Given the description of an element on the screen output the (x, y) to click on. 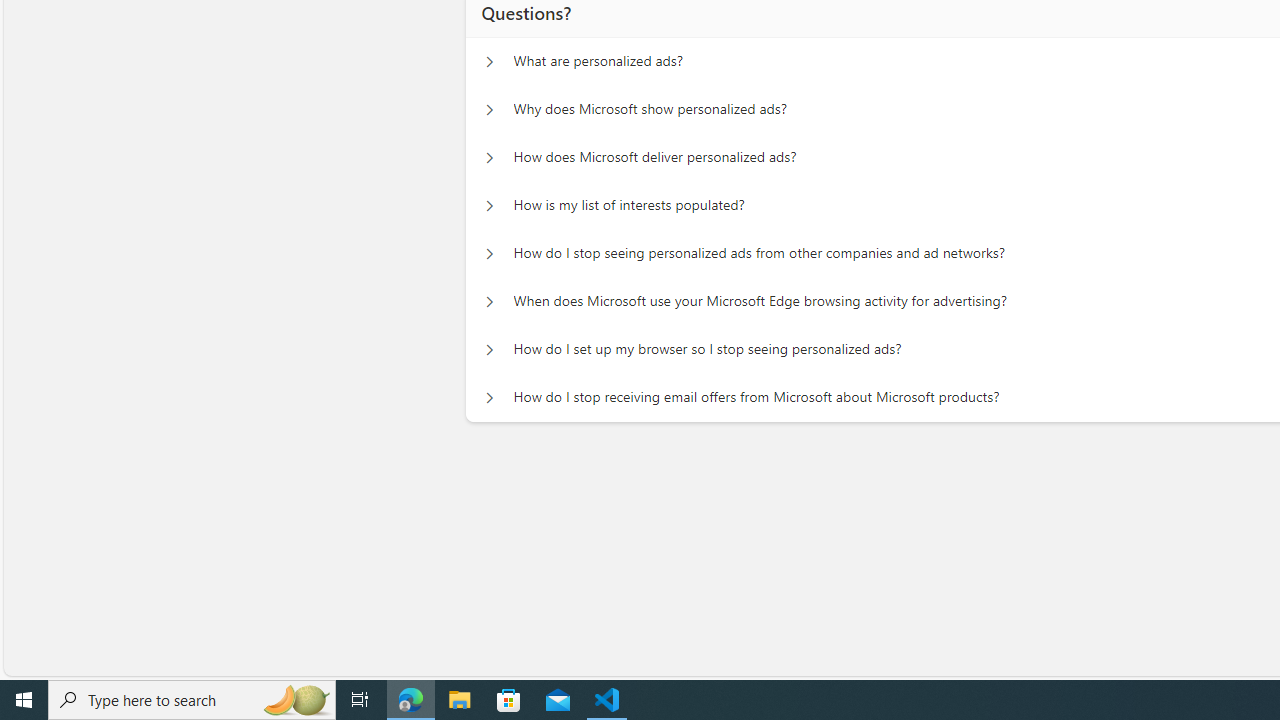
Questions? How is my list of interests populated? (489, 206)
Questions? How does Microsoft deliver personalized ads? (489, 157)
Questions? Why does Microsoft show personalized ads? (489, 110)
Questions? What are personalized ads? (489, 62)
